Given the description of an element on the screen output the (x, y) to click on. 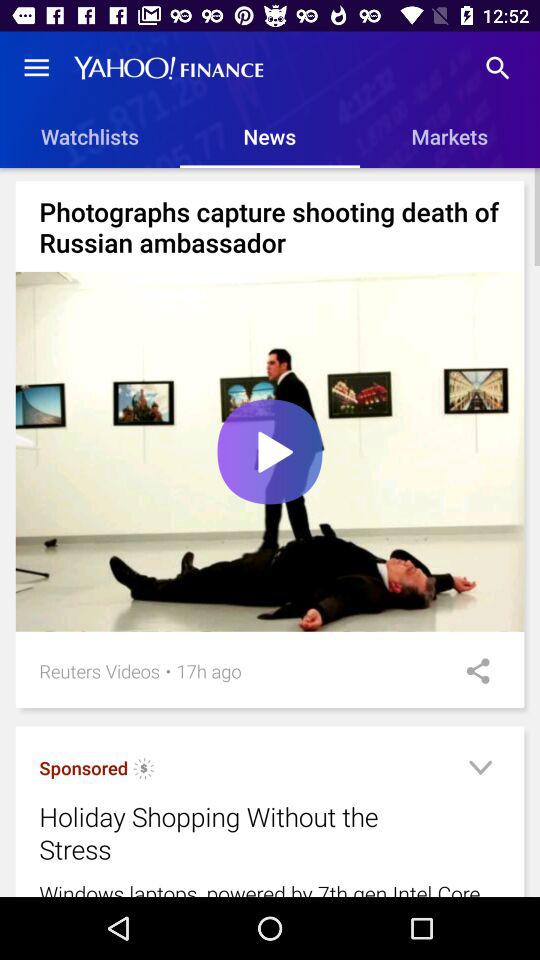
down (480, 770)
